Given the description of an element on the screen output the (x, y) to click on. 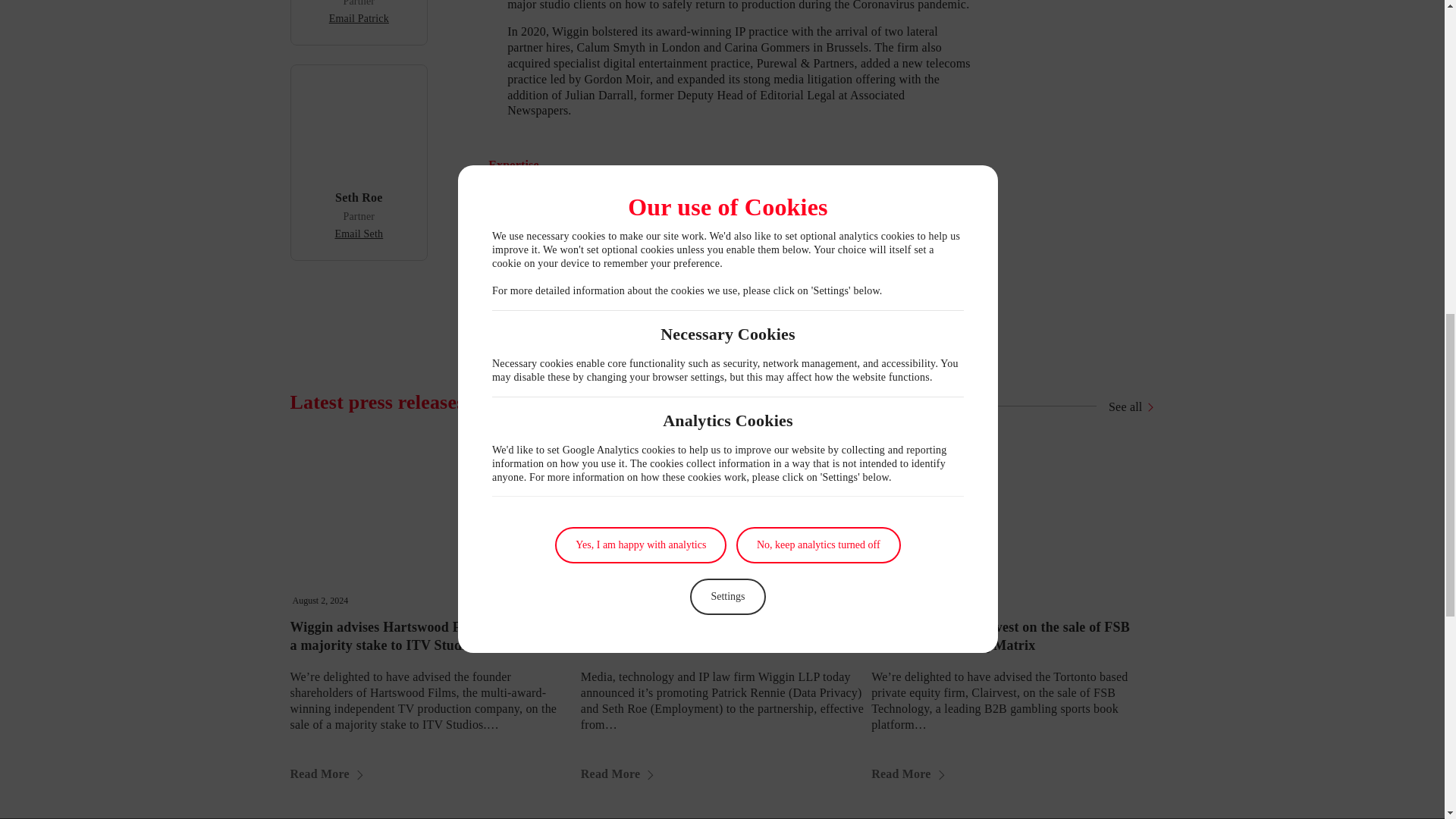
See all Press Releases (1125, 407)
Email address for Patrick (358, 18)
Email address for Seth (358, 233)
Link to the expertise: Data Privacy (549, 203)
Profile for Seth (357, 196)
